Given the description of an element on the screen output the (x, y) to click on. 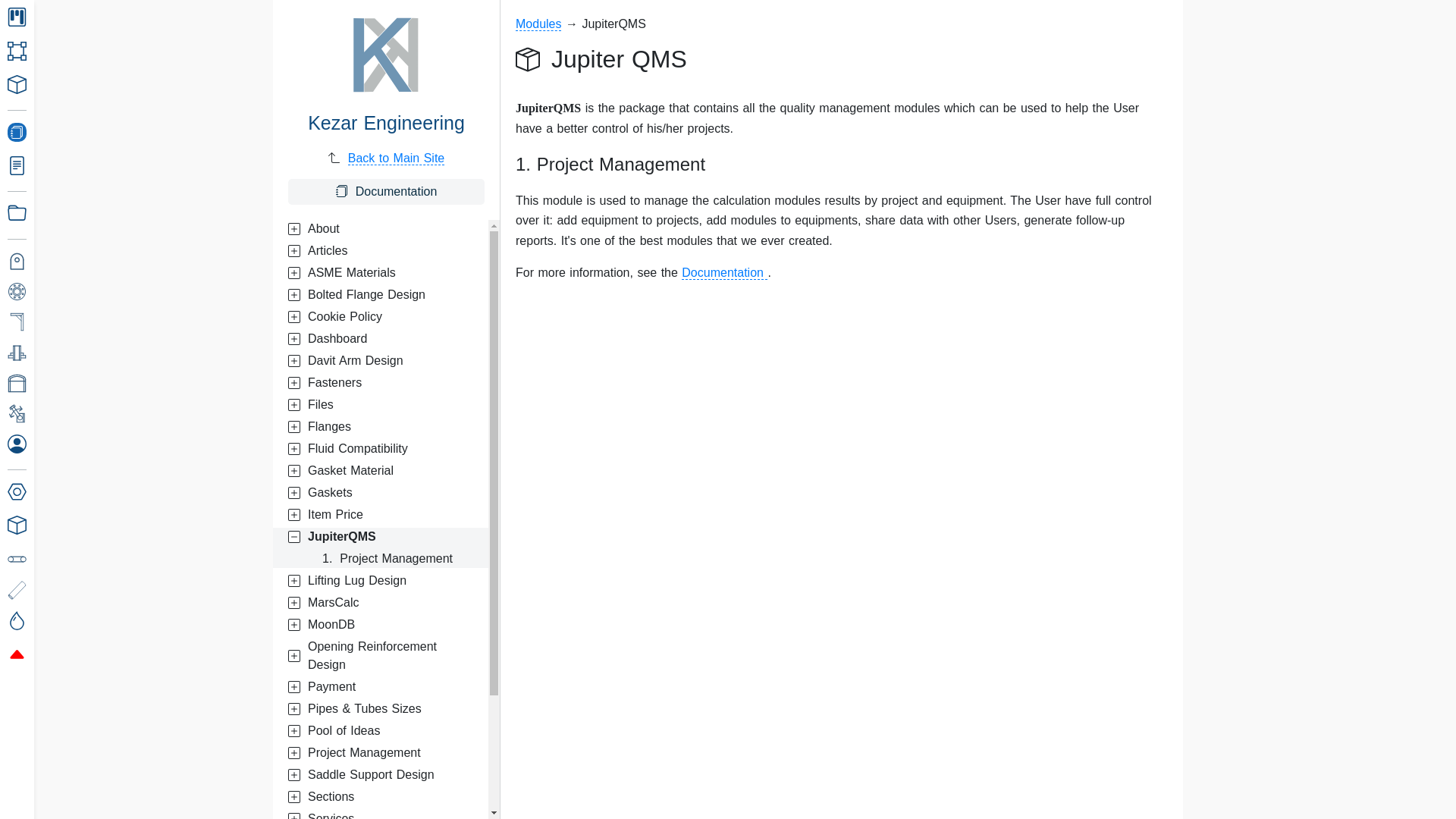
Item Price (380, 515)
Cookie Policy (380, 316)
Files (380, 404)
Payment (380, 687)
Sections (380, 796)
Pool of Ideas (380, 730)
Gasket Material (380, 470)
Bolted Flange Design (380, 294)
MarsCalc (380, 602)
Flanges (380, 426)
Davit Arm Design (380, 361)
Fluid Compatibility (380, 448)
Project Management (380, 752)
ASME Materials (380, 272)
Lifting Lug Design (380, 580)
